Given the description of an element on the screen output the (x, y) to click on. 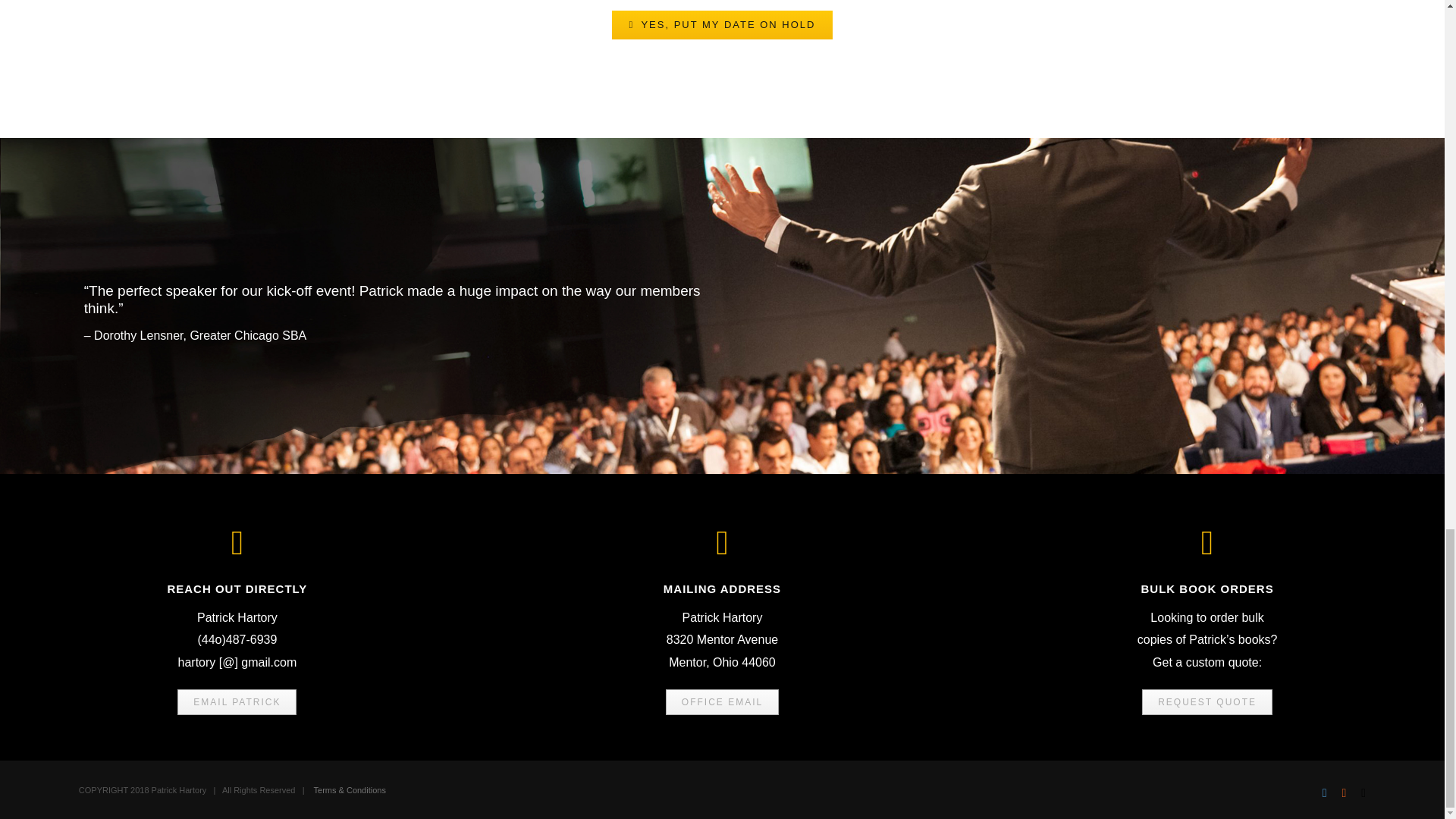
OFFICE EMAIL (721, 701)
Email (1363, 793)
Rss (1344, 793)
YES, PUT MY DATE ON HOLD (721, 24)
EMAIL PATRICK (237, 701)
Twitter (1324, 793)
REQUEST QUOTE (1206, 701)
